Given the description of an element on the screen output the (x, y) to click on. 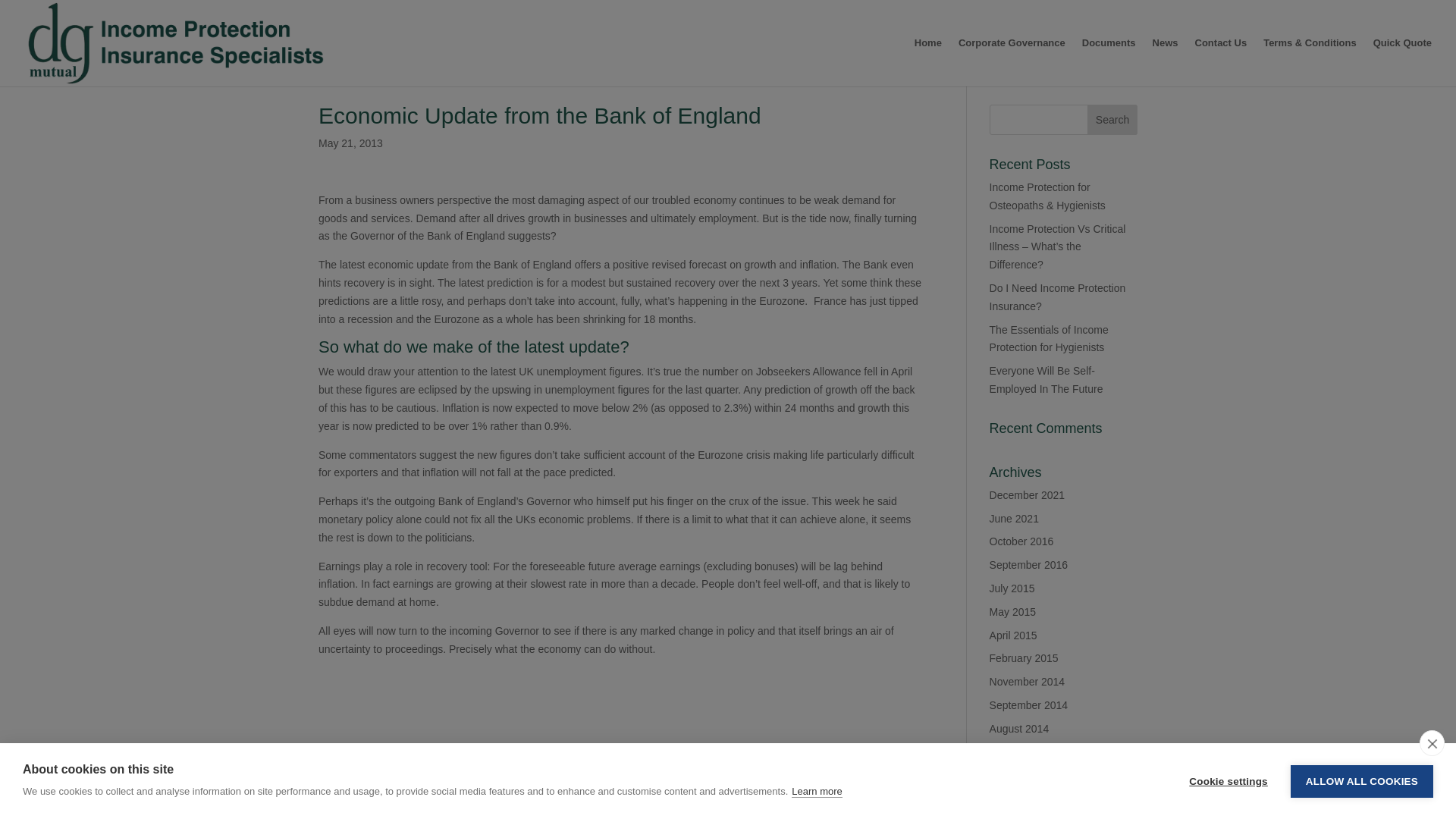
Corporate Governance (1011, 61)
July 2015 (1012, 588)
October 2016 (1022, 541)
April 2015 (1013, 635)
April 2014 (1013, 798)
Search (1112, 119)
Contact Us (1221, 61)
Everyone Will Be Self-Employed In The Future (1046, 379)
May 2014 (1012, 775)
August 2014 (1019, 728)
The Essentials of Income Protection for Hygienists (1049, 338)
Do I Need Income Protection Insurance? (1057, 296)
May 2015 (1012, 612)
